Given the description of an element on the screen output the (x, y) to click on. 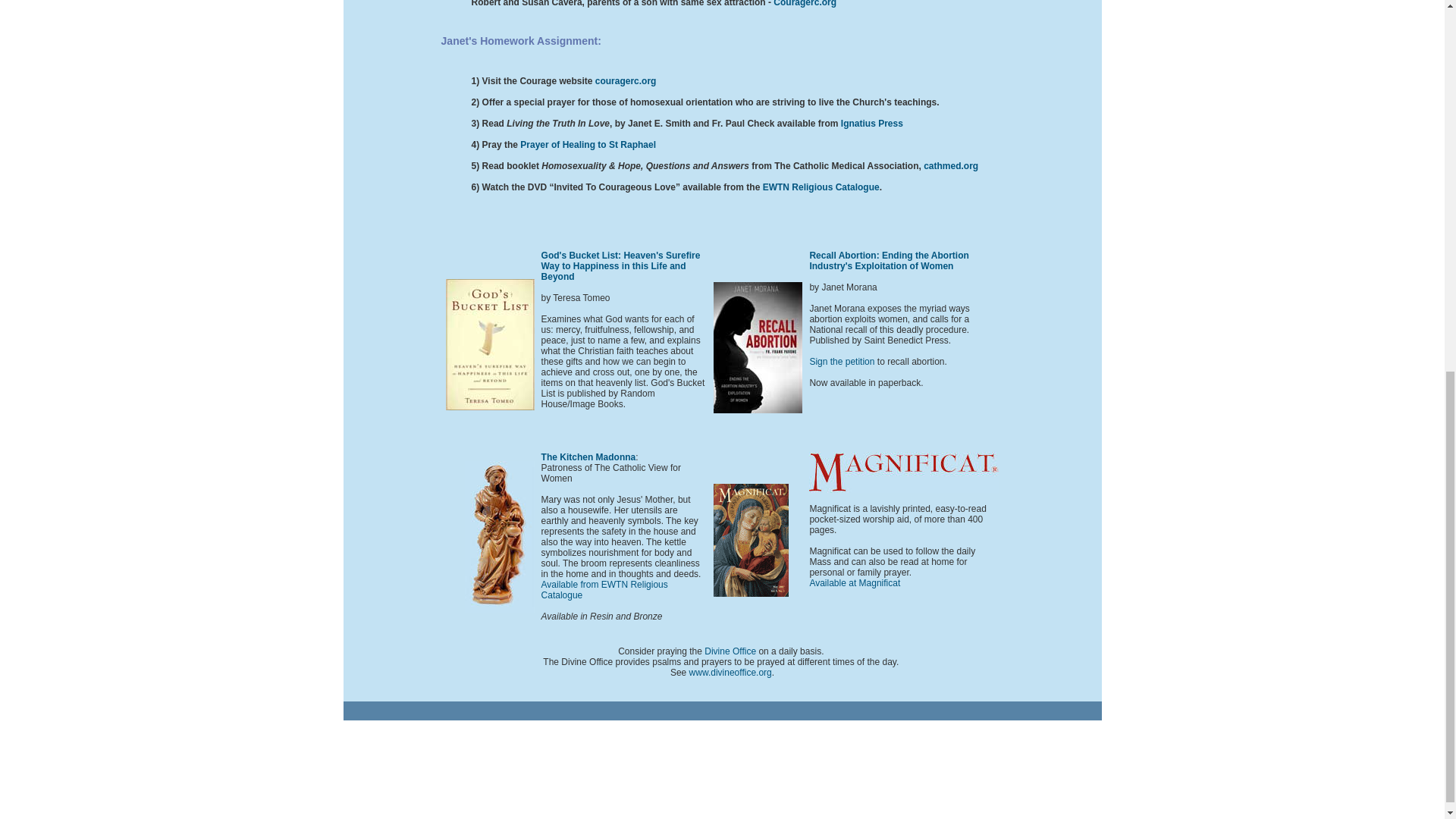
cathmed.org (950, 165)
www.divineoffice.org (729, 672)
Divine Office (729, 651)
Ignatius Press (870, 122)
couragerc.org (625, 81)
The Kitchen Madonna (588, 457)
Available at Magnificat (854, 583)
Prayer of Healing to St Raphael (587, 144)
Couragerc.org (804, 3)
Available from EWTN Religious Catalogue (604, 589)
Sign the petition (842, 361)
EWTN Religious Catalogue (820, 186)
